Given the description of an element on the screen output the (x, y) to click on. 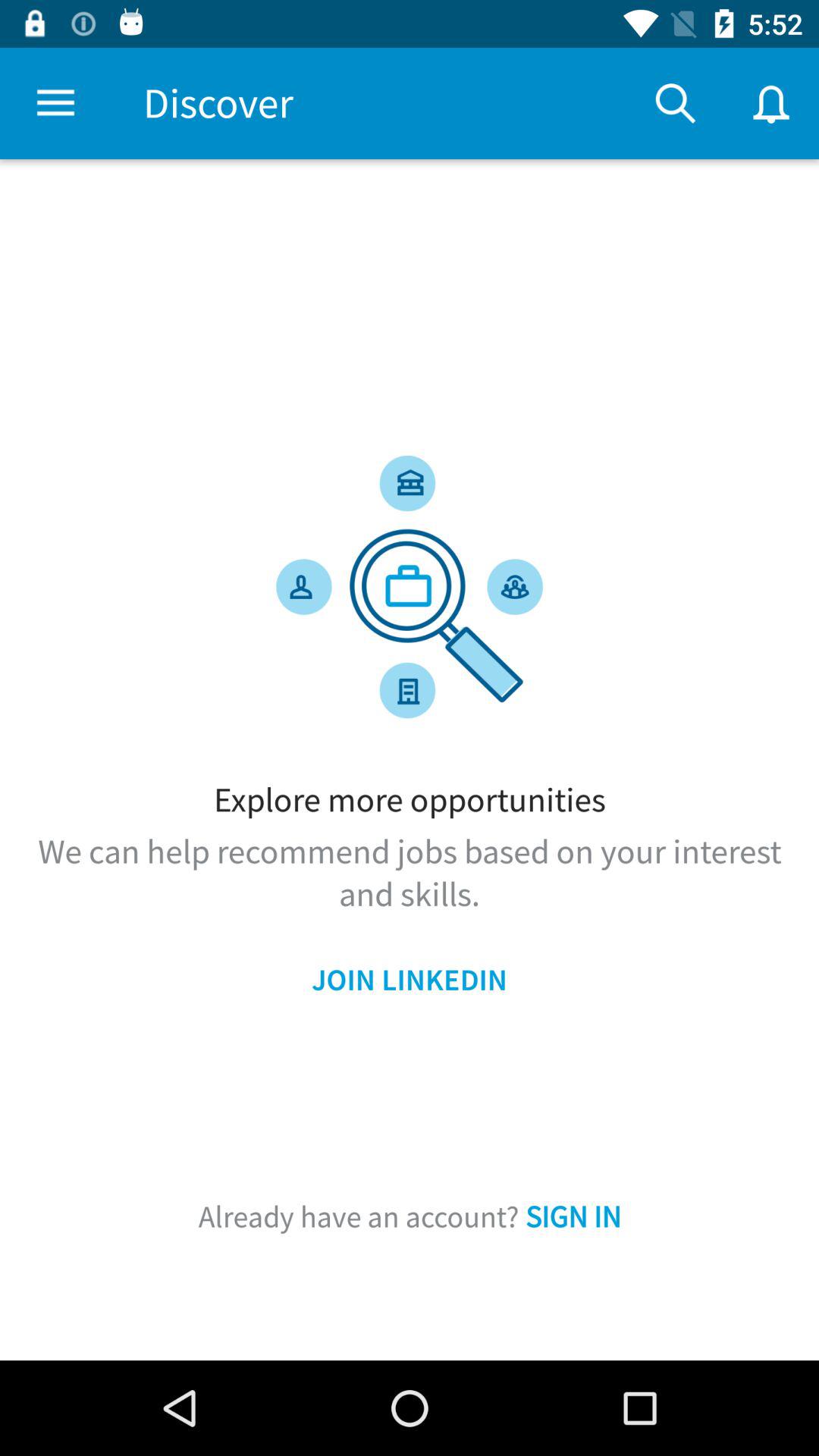
flip to already have an item (409, 1216)
